Given the description of an element on the screen output the (x, y) to click on. 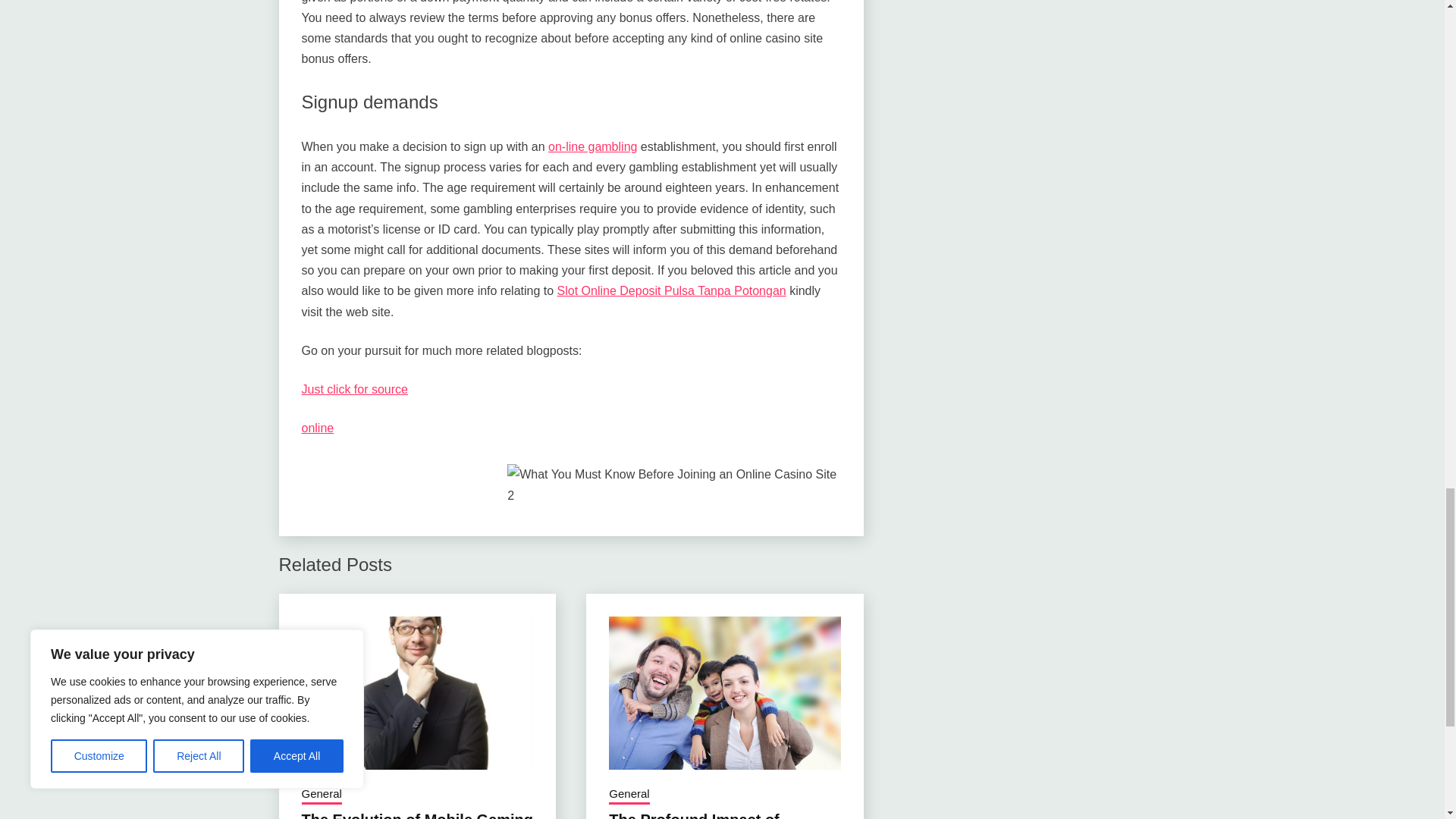
on-line gambling (592, 146)
online (317, 427)
Slot Online Deposit Pulsa Tanpa Potongan (671, 290)
Just click for source (354, 389)
